Given the description of an element on the screen output the (x, y) to click on. 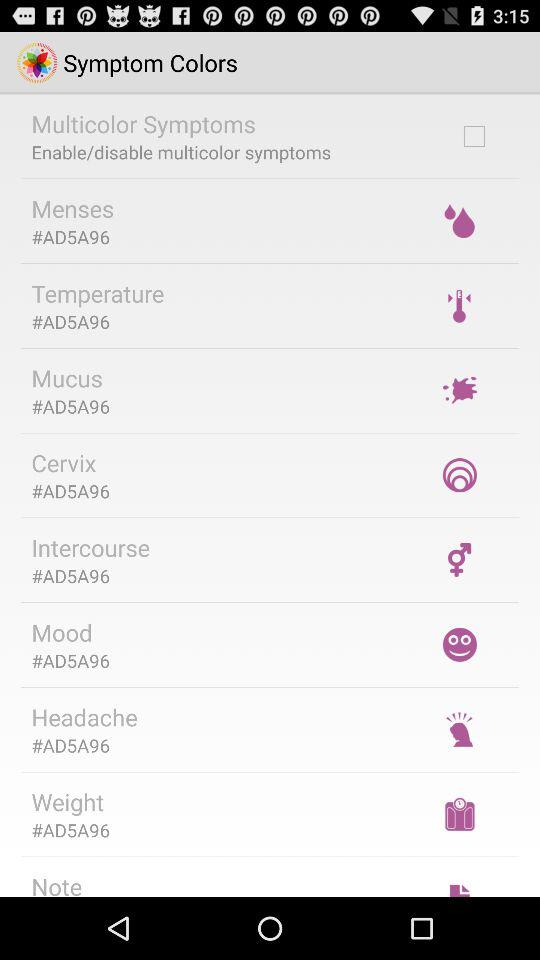
tap item above the #ad5a96 icon (67, 801)
